Given the description of an element on the screen output the (x, y) to click on. 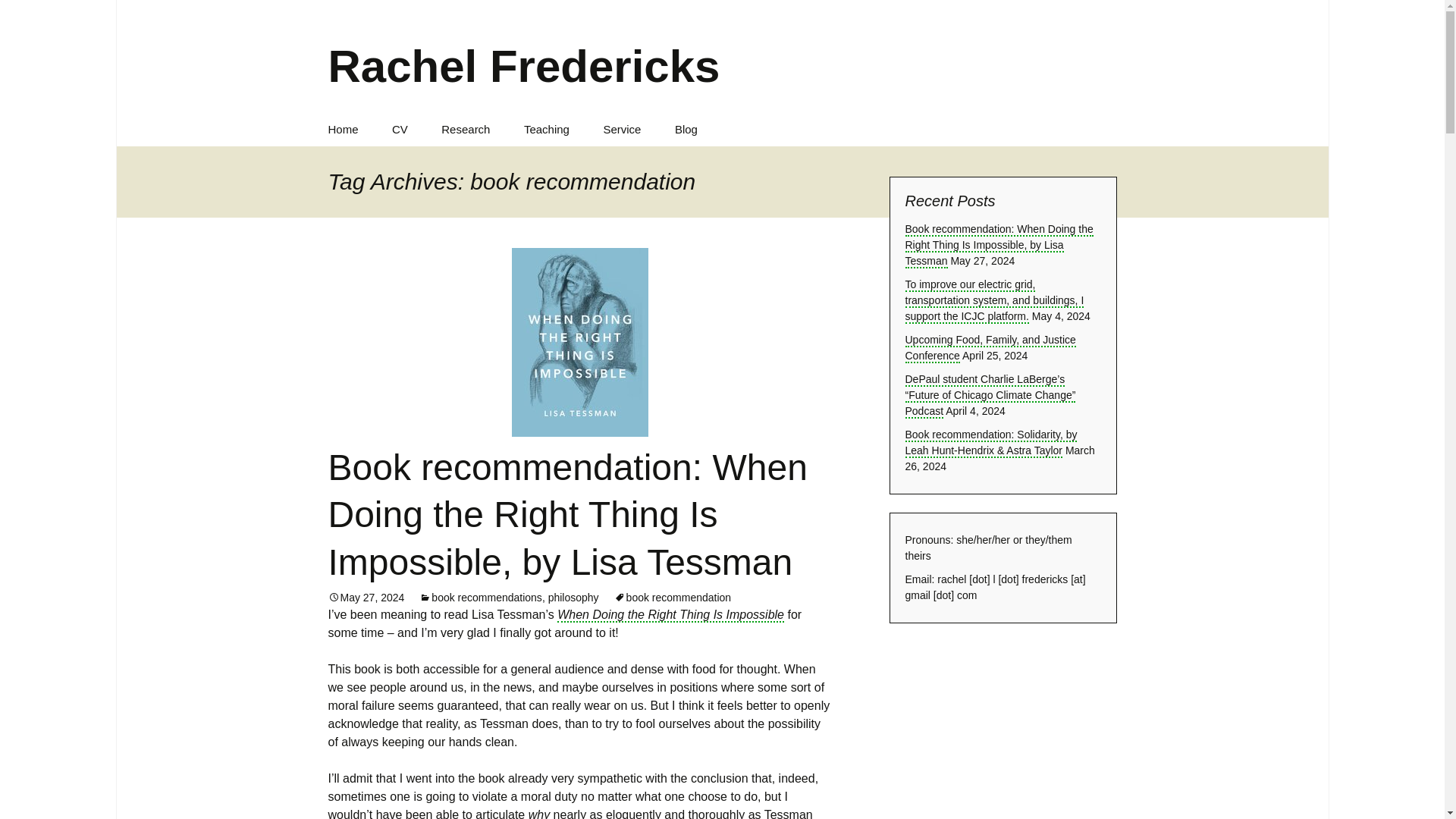
philosophy (573, 597)
Research (465, 129)
Blog (686, 129)
book recommendations (480, 597)
Home (342, 129)
When Doing the Right Thing Is Impossible (670, 615)
Rachel Fredericks (722, 56)
Teaching (546, 129)
book recommendation (673, 597)
May 27, 2024 (365, 597)
Rachel Fredericks (722, 56)
CV (400, 129)
